Given the description of an element on the screen output the (x, y) to click on. 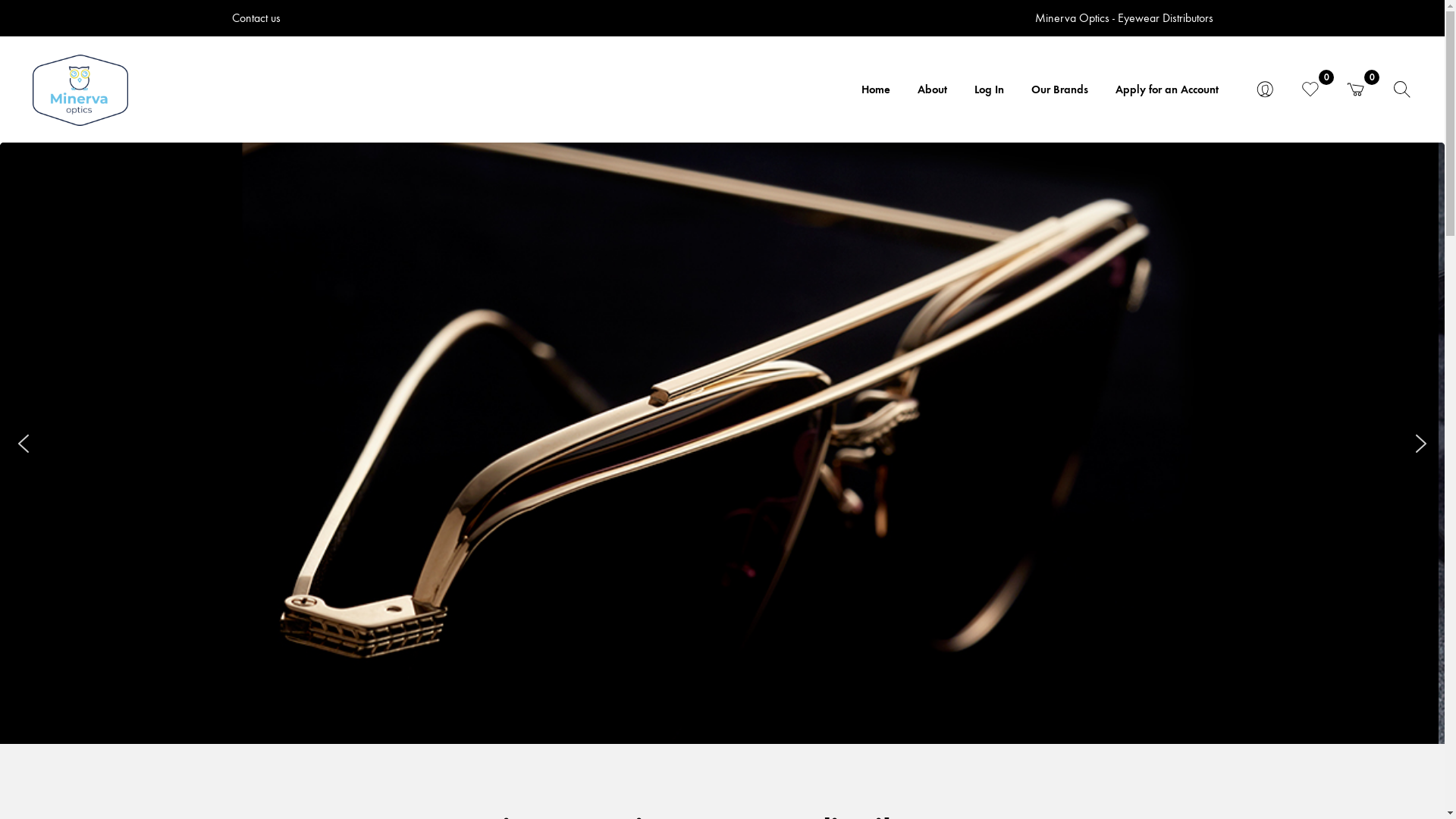
Home Element type: text (875, 90)
Log In Element type: text (988, 90)
Contact us Element type: text (256, 17)
0 Element type: text (1310, 90)
Our Brands Element type: text (1059, 90)
Minervaoptics Element type: hover (80, 90)
0 Element type: text (1355, 90)
Apply for an Account Element type: text (1166, 90)
About Element type: text (931, 90)
